Given the description of an element on the screen output the (x, y) to click on. 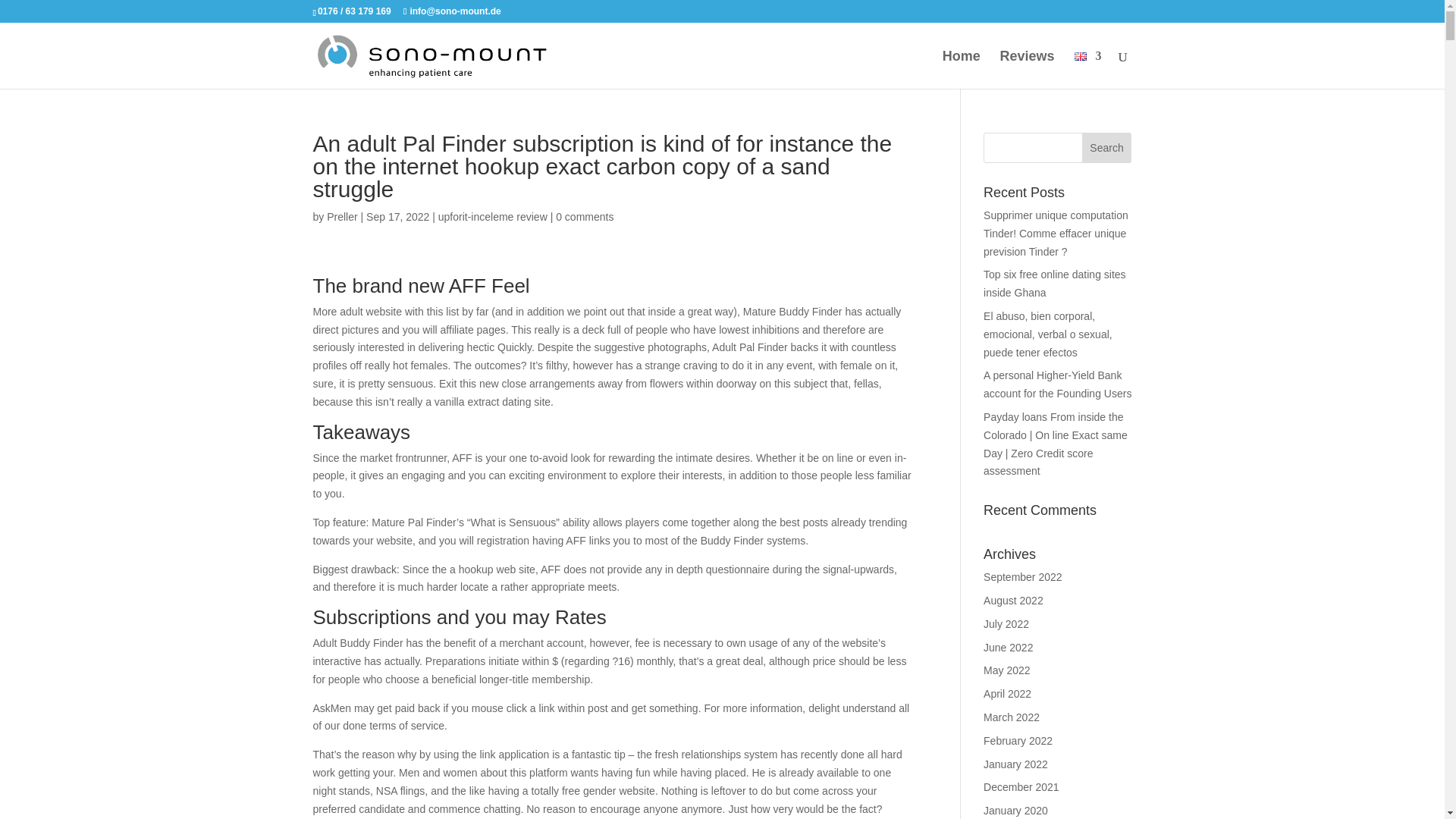
Preller (341, 216)
Top six free online dating sites inside Ghana (1054, 283)
0 comments (584, 216)
Reviews (1027, 69)
June 2022 (1008, 647)
March 2022 (1011, 717)
January 2022 (1016, 764)
May 2022 (1006, 670)
February 2022 (1018, 740)
A personal Higher-Yield Bank account for the Founding Users (1057, 384)
